Given the description of an element on the screen output the (x, y) to click on. 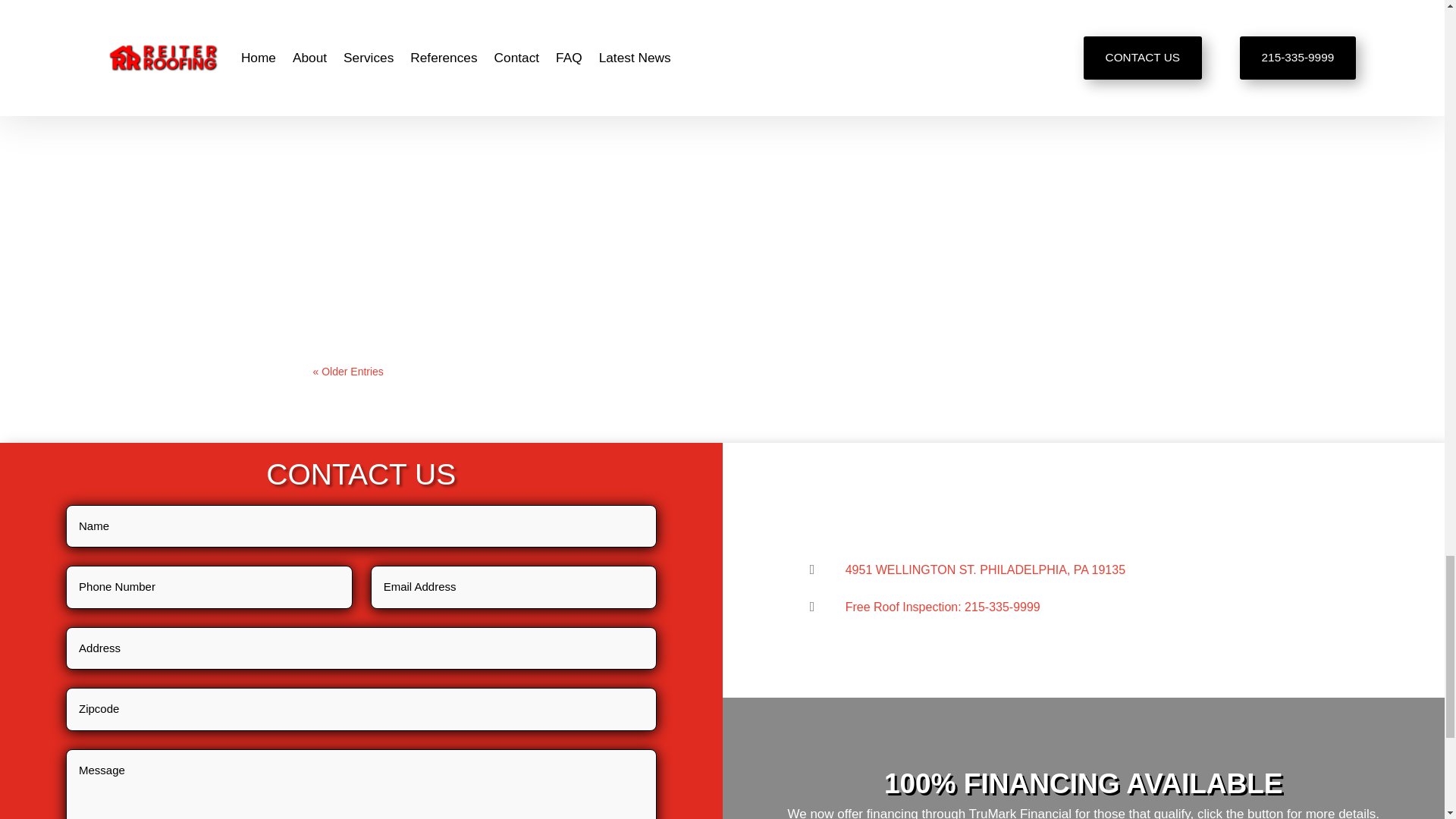
4951 WELLINGTON ST. PHILADELPHIA, PA 19135 (985, 569)
